Given the description of an element on the screen output the (x, y) to click on. 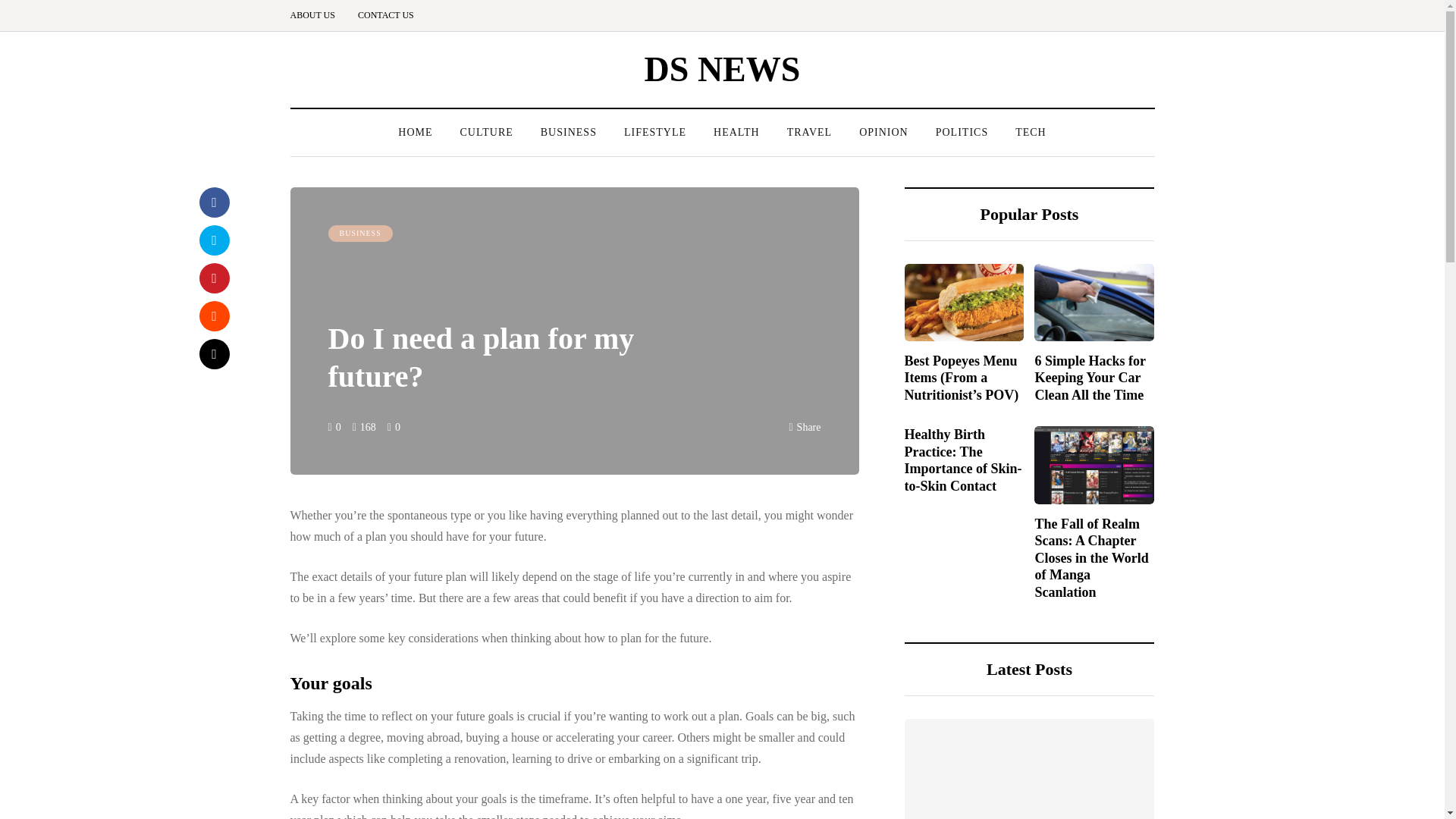
Pin this (213, 277)
BUSINESS (568, 132)
BUSINESS (359, 233)
ABOUT US (317, 15)
DS NEWS (722, 68)
HEALTH (736, 132)
Share with Facebook (213, 202)
POLITICS (961, 132)
OPINION (883, 132)
TRAVEL (809, 132)
Share by Email (213, 354)
Share on Reddit (213, 316)
HOME (414, 132)
CULTURE (485, 132)
TECH (1030, 132)
